Given the description of an element on the screen output the (x, y) to click on. 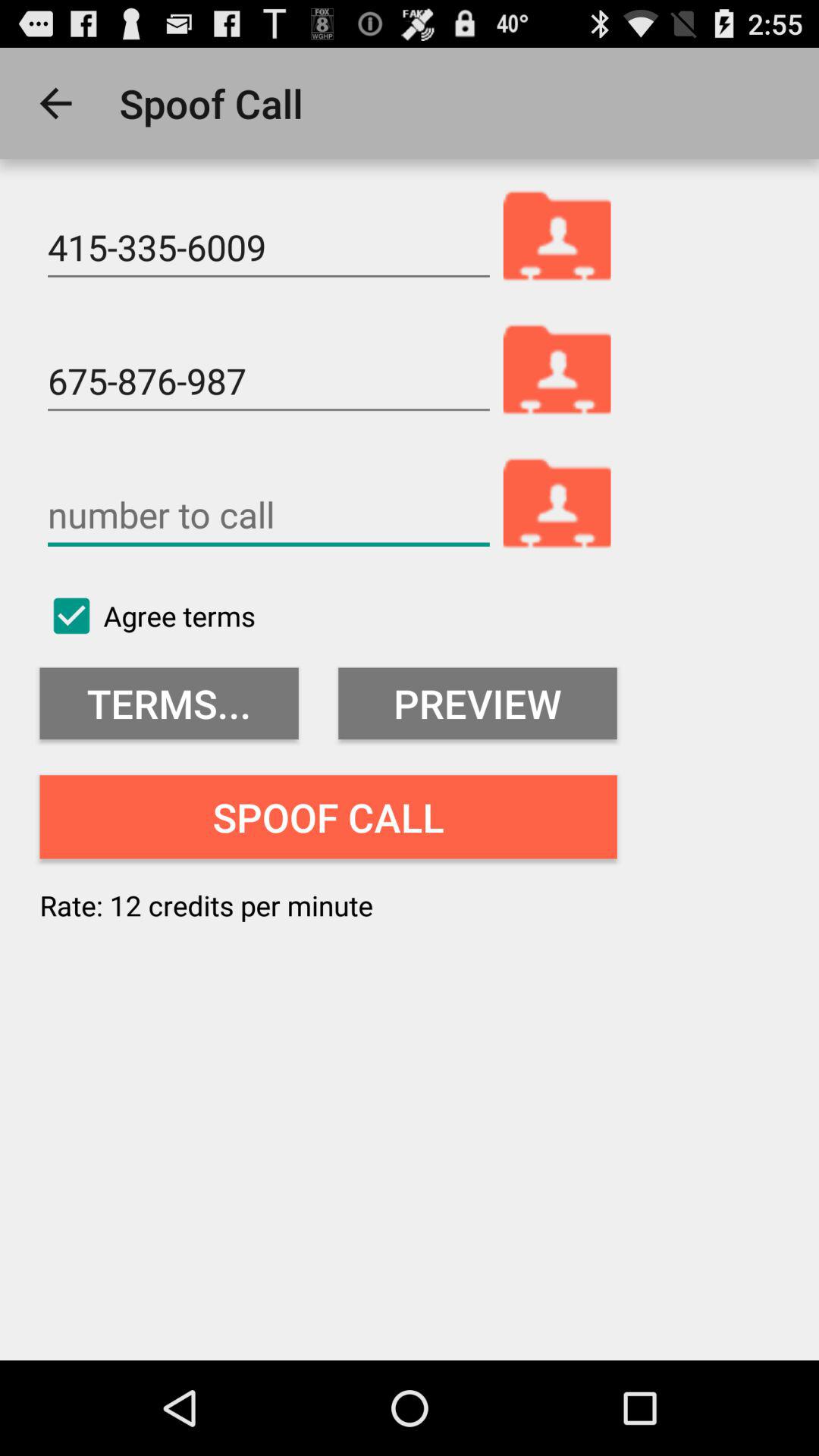
select the app to the left of the spoof call icon (55, 103)
